Given the description of an element on the screen output the (x, y) to click on. 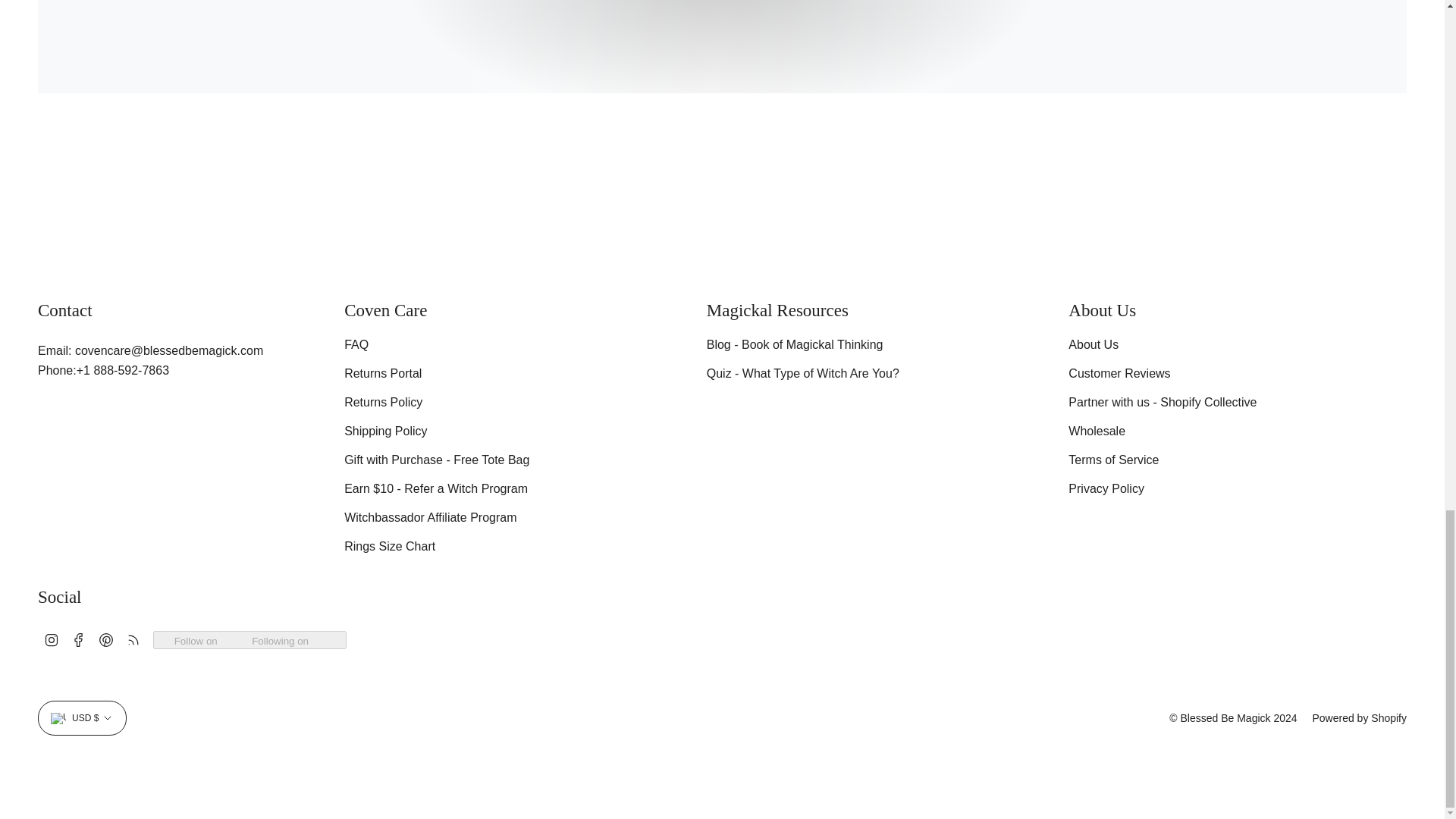
Blessed Be Magick on Instagram (51, 638)
Blessed Be Magick on Feed (133, 638)
Blessed Be Magick on Facebook (78, 638)
Blessed Be Magick on Pinterest (106, 638)
